Given the description of an element on the screen output the (x, y) to click on. 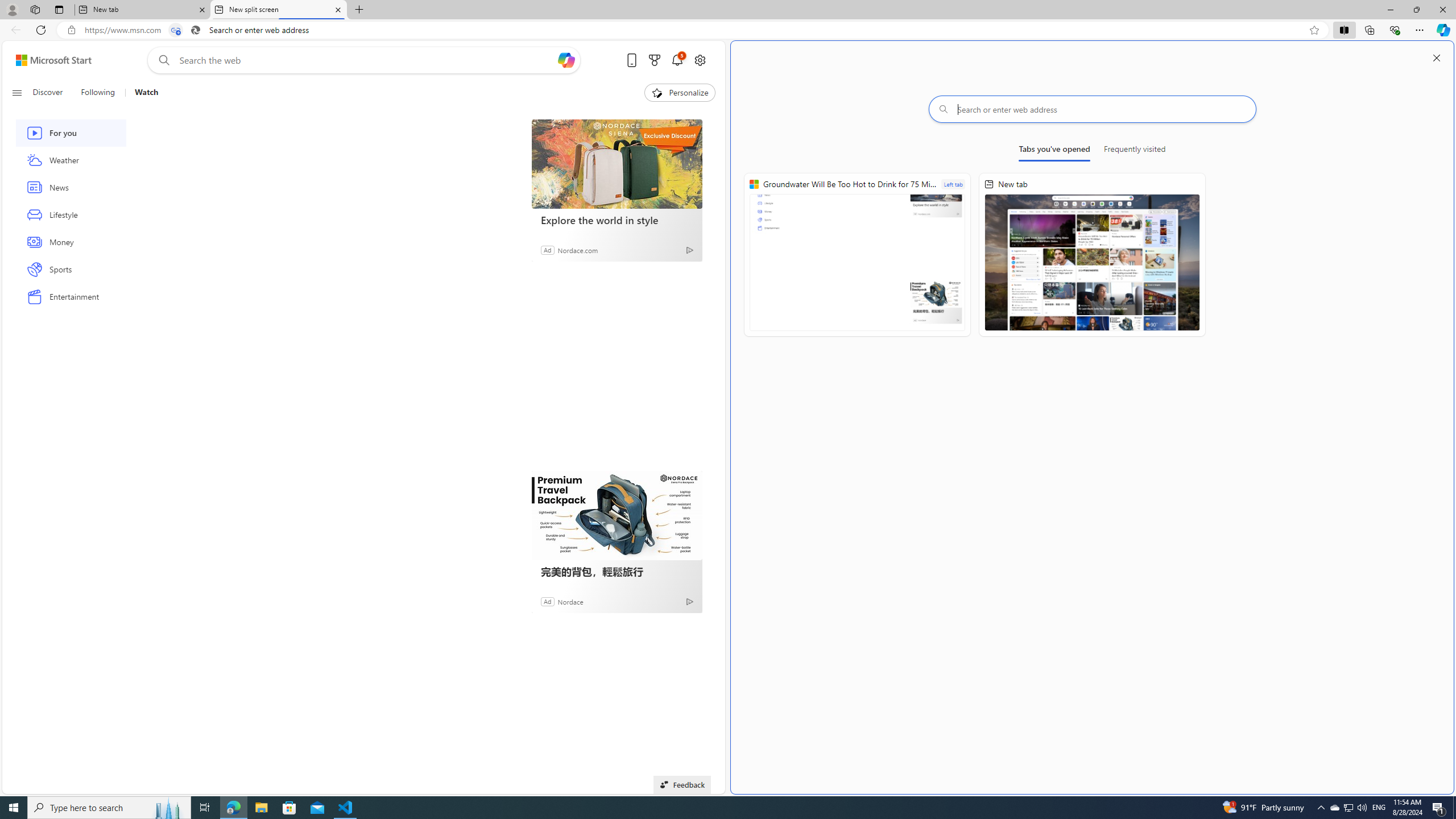
Search icon (195, 29)
Web search (161, 60)
Nordace.com (577, 249)
Skip to content (49, 59)
Tabs in split screen (175, 29)
Microsoft rewards (654, 60)
